Given the description of an element on the screen output the (x, y) to click on. 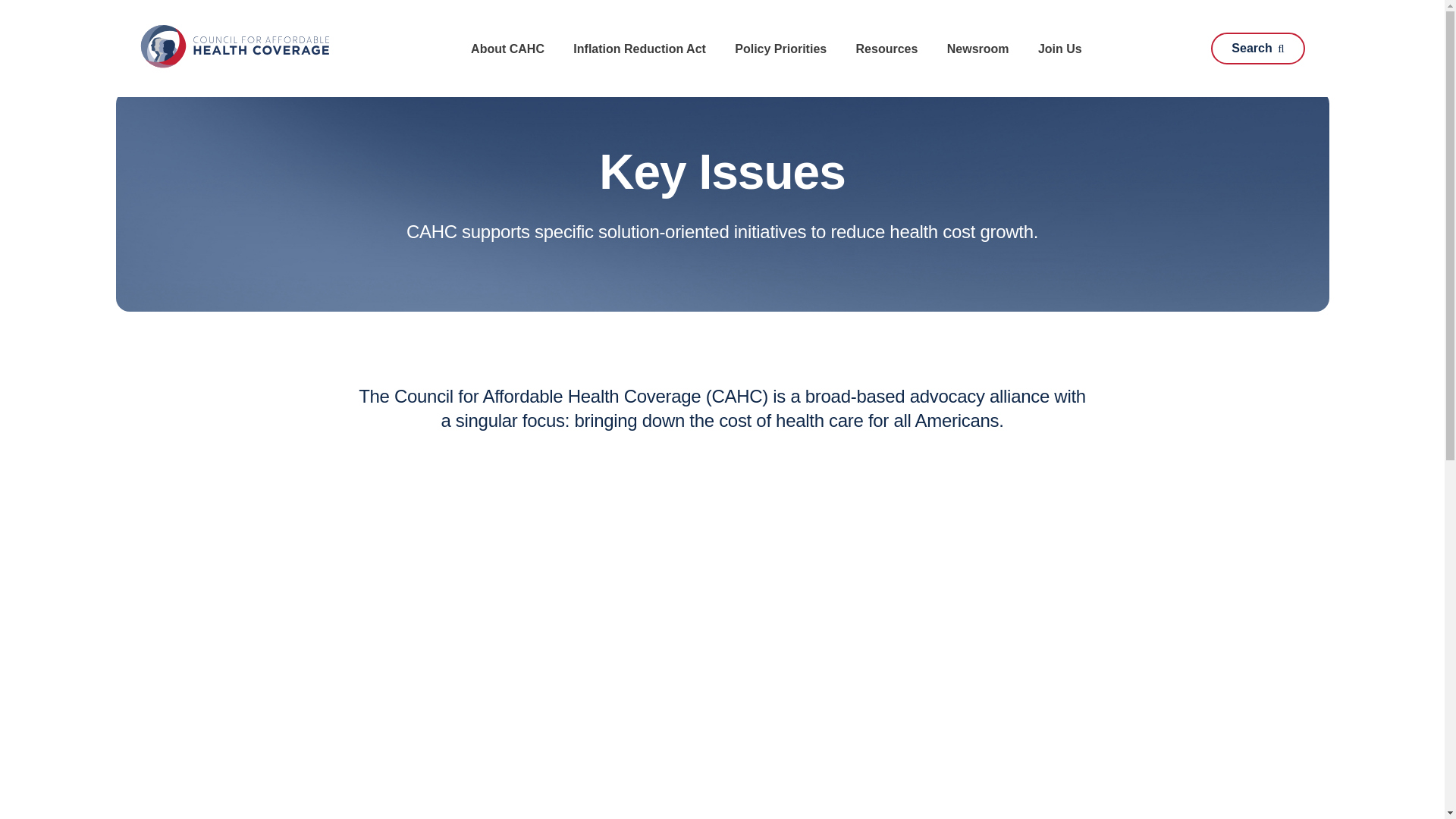
Join Us (1060, 48)
About CAHC (507, 48)
Resources (887, 48)
Policy Priorities (780, 48)
Search (1257, 48)
Inflation Reduction Act (638, 48)
Newsroom (978, 48)
